Given the description of an element on the screen output the (x, y) to click on. 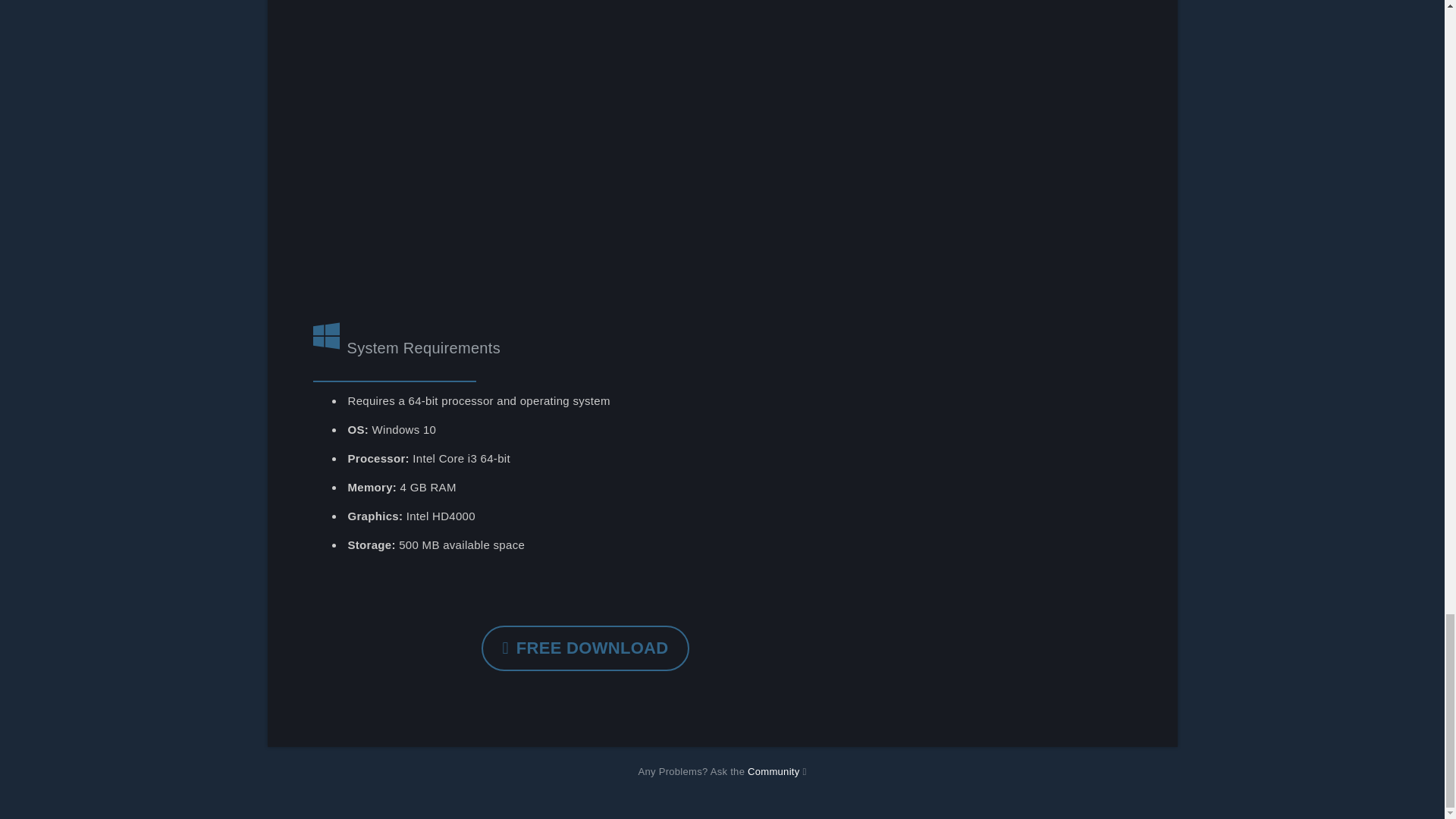
FREE DOWNLOAD (584, 647)
